Given the description of an element on the screen output the (x, y) to click on. 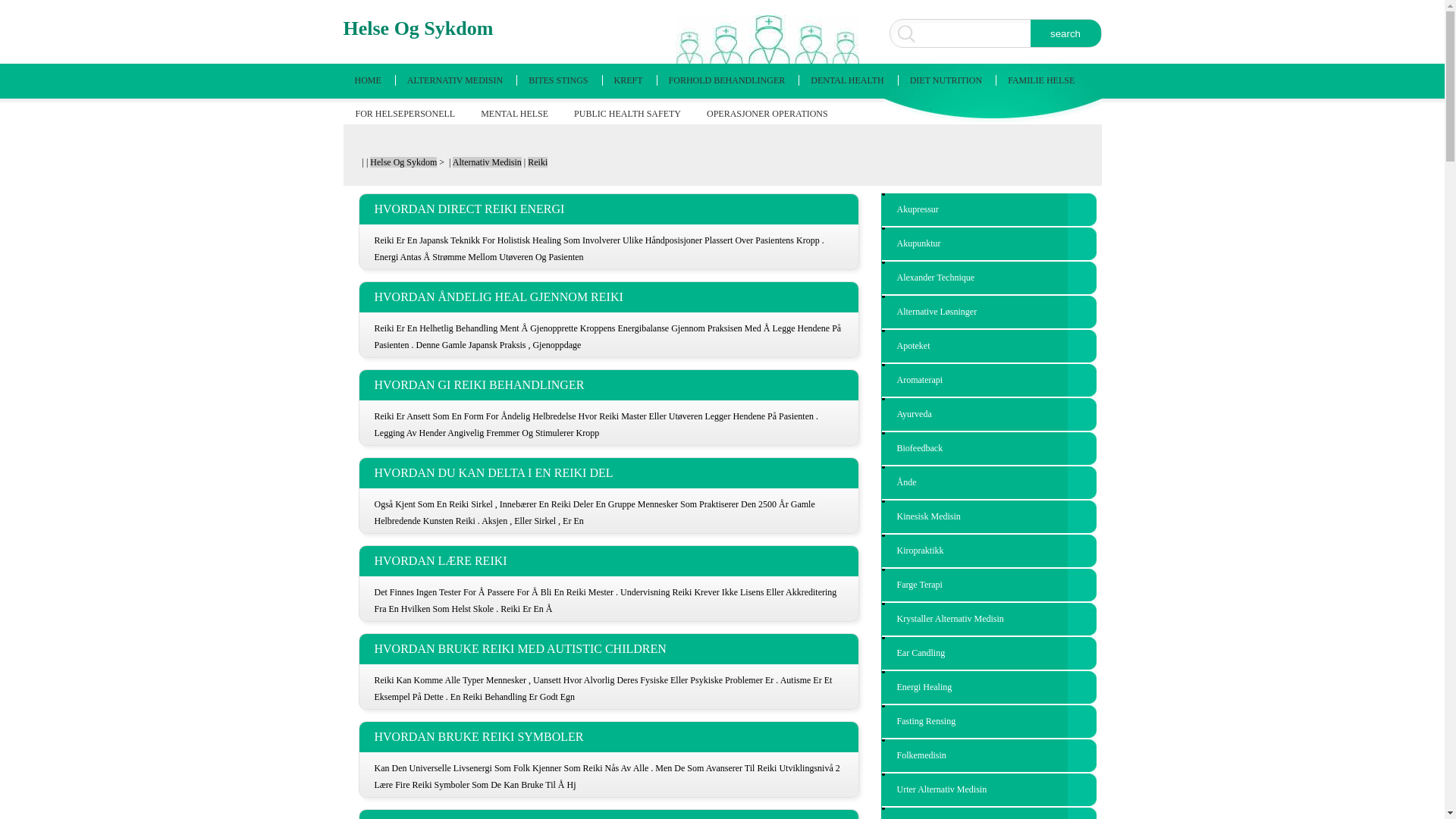
Energi Healing Element type: text (988, 687)
Fasting Rensing Element type: text (988, 721)
HVORDAN BRUKE REIKI SYMBOLER Element type: text (608, 736)
Reiki Element type: text (537, 161)
Farge Terapi Element type: text (988, 584)
Alternativ Medisin Element type: text (486, 161)
DIET NUTRITION Element type: text (946, 80)
Alexander Technique Element type: text (988, 277)
Ayurveda Element type: text (988, 414)
MENTAL HELSE Element type: text (514, 113)
Aromaterapi Element type: text (988, 380)
FOR HELSEPERSONELL Element type: text (404, 113)
Urter Alternativ Medisin Element type: text (988, 789)
Helse Og Sykdom Element type: text (403, 161)
HVORDAN GI REIKI BEHANDLINGER Element type: text (608, 385)
Kinesisk Medisin Element type: text (988, 516)
Akupunktur Element type: text (988, 243)
OPERASJONER OPERATIONS Element type: text (767, 113)
HOME Element type: text (367, 80)
FORHOLD BEHANDLINGER Element type: text (726, 80)
Krystaller Alternativ Medisin Element type: text (988, 618)
Kiropraktikk Element type: text (988, 550)
Ear Candling Element type: text (988, 653)
PUBLIC HEALTH SAFETY Element type: text (627, 113)
ALTERNATIV MEDISIN Element type: text (454, 80)
DENTAL HEALTH Element type: text (846, 80)
BITES STINGS Element type: text (557, 80)
search Element type: text (1064, 33)
Biofeedback Element type: text (988, 448)
FAMILIE HELSE Element type: text (1040, 80)
Akupressur Element type: text (988, 209)
HVORDAN DIRECT REIKI ENERGI Element type: text (608, 209)
Folkemedisin Element type: text (988, 755)
HVORDAN DU KAN DELTA I EN REIKI DEL Element type: text (608, 473)
Apoteket Element type: text (988, 345)
KREFT Element type: text (628, 80)
HVORDAN BRUKE REIKI MED AUTISTIC CHILDREN Element type: text (608, 648)
